Given the description of an element on the screen output the (x, y) to click on. 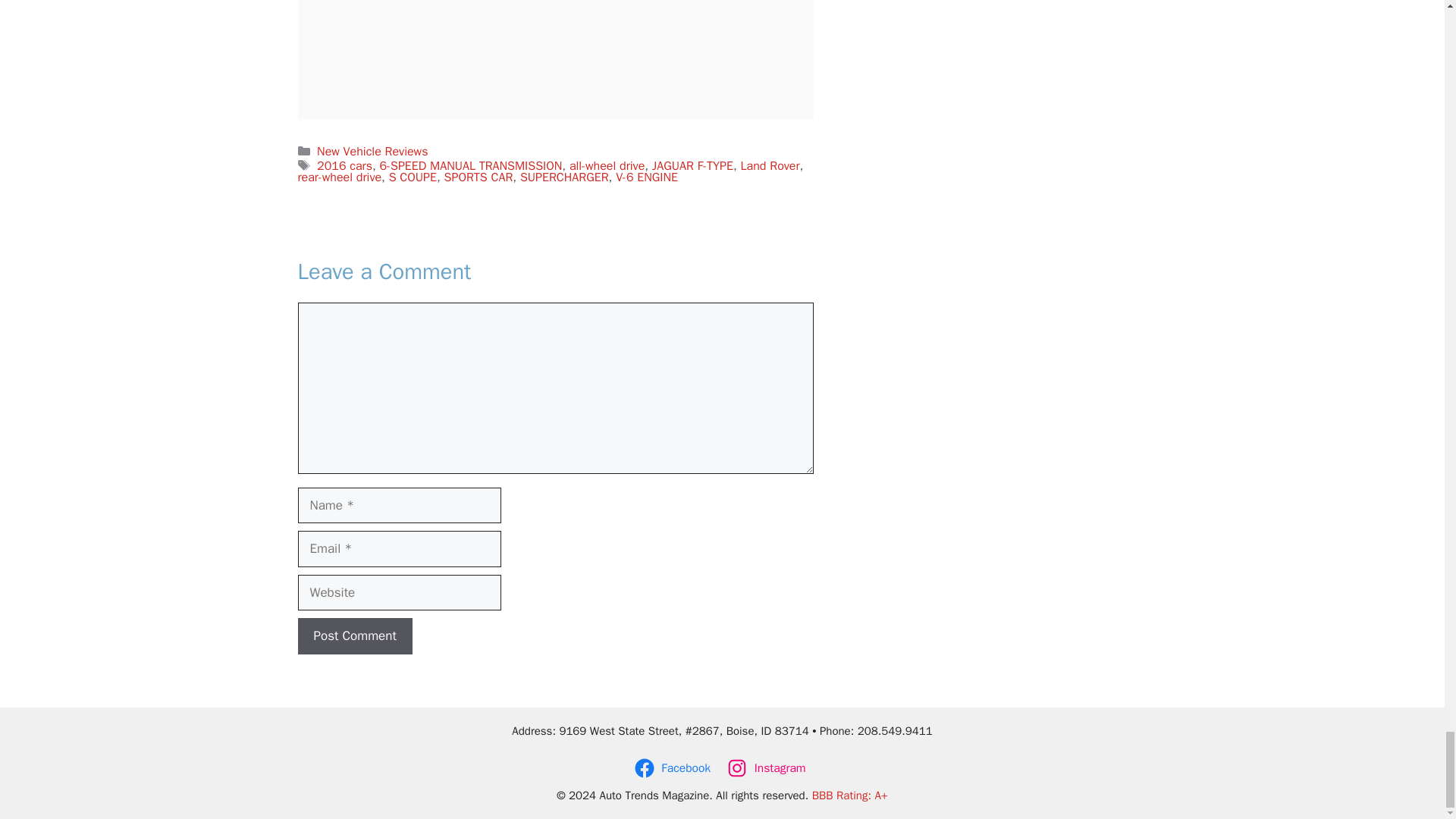
Post Comment (354, 636)
